Given the description of an element on the screen output the (x, y) to click on. 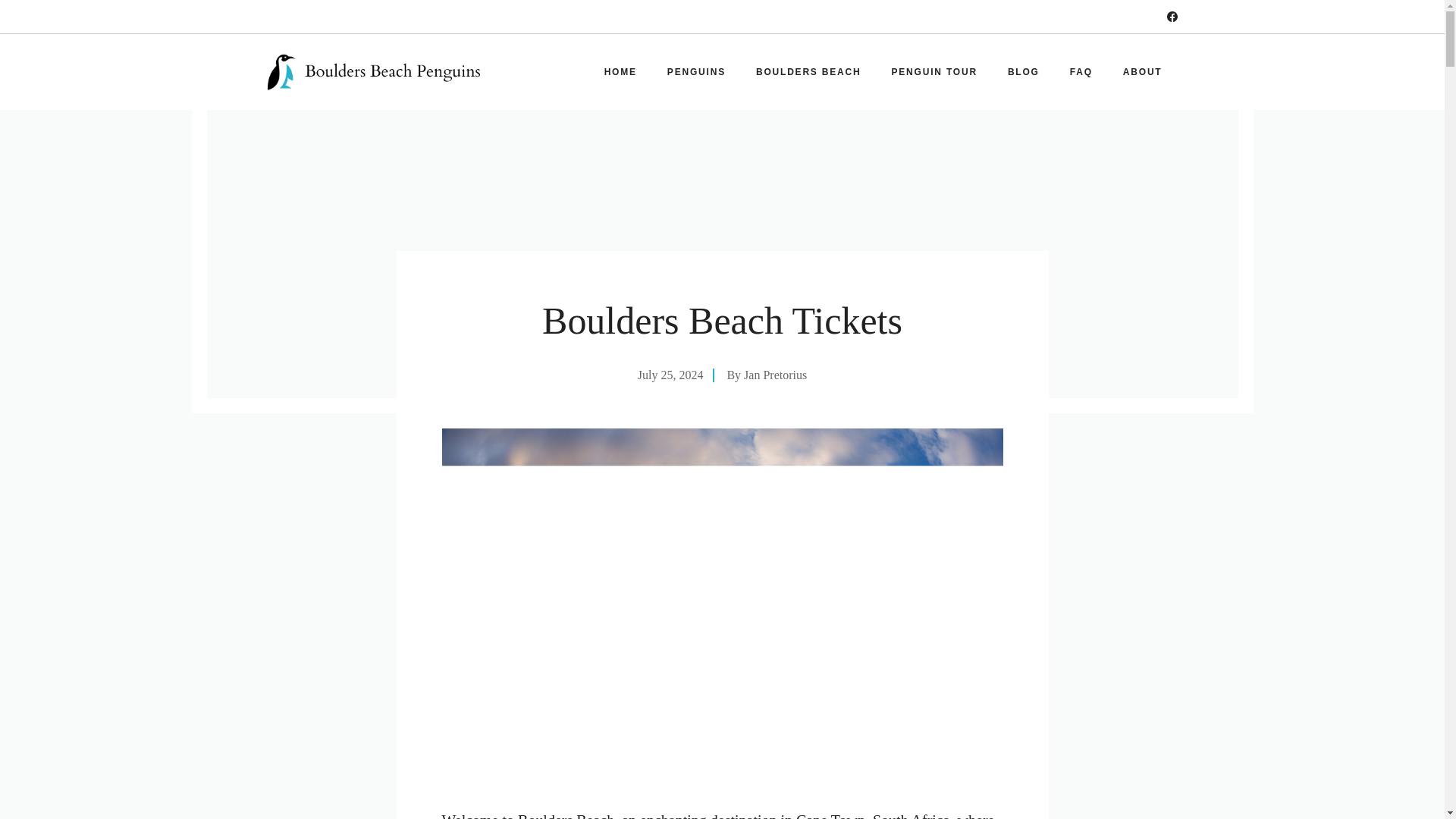
FAQ (1081, 72)
HOME (620, 72)
Jan Pretorius (775, 374)
ABOUT (1142, 72)
PENGUINS (696, 72)
BOULDERS BEACH (808, 72)
PENGUIN TOUR (933, 72)
BLOG (1023, 72)
